Given the description of an element on the screen output the (x, y) to click on. 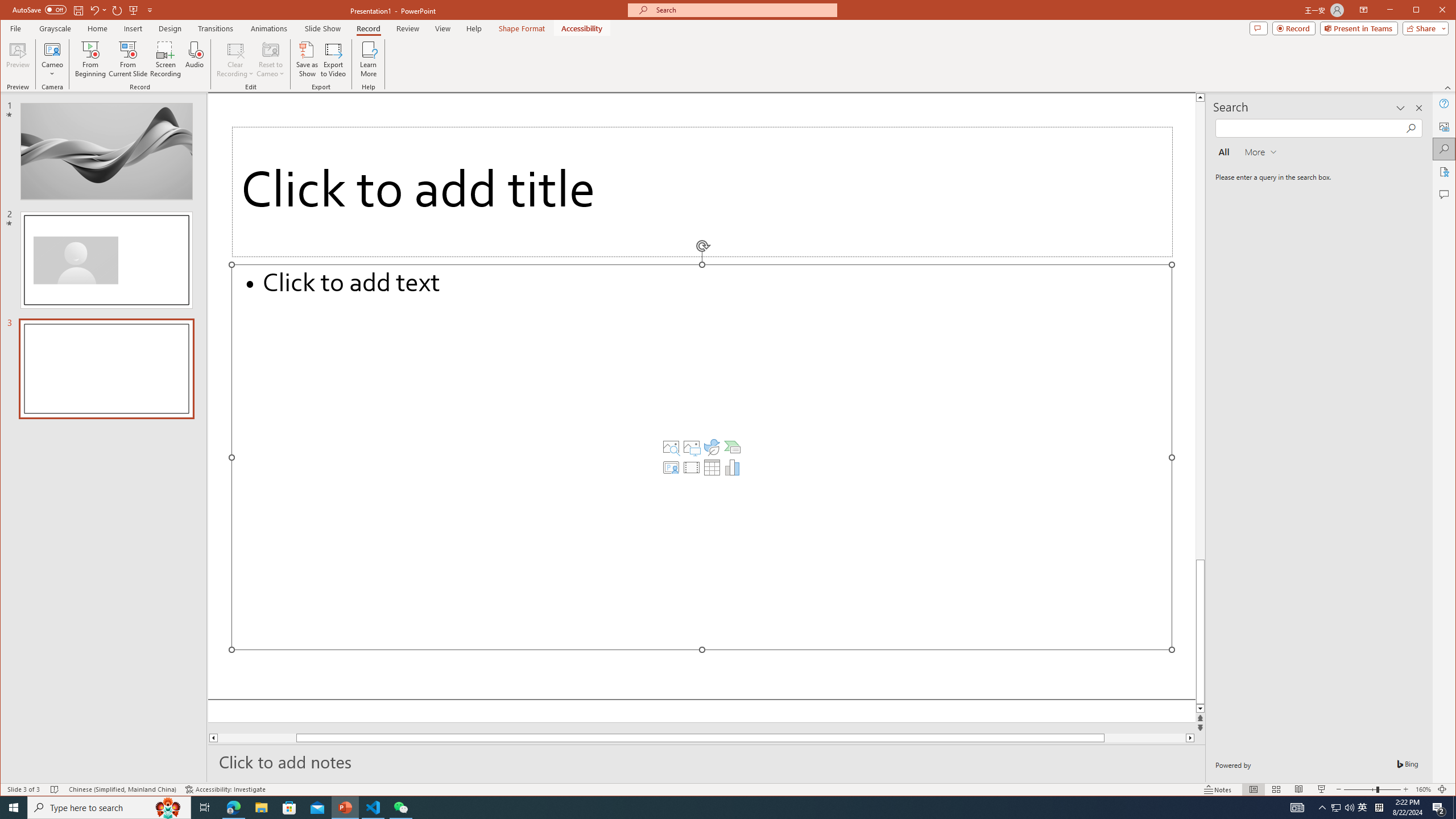
WeChat - 1 running window (400, 807)
Stock Images (670, 447)
Insert Video (691, 467)
